Given the description of an element on the screen output the (x, y) to click on. 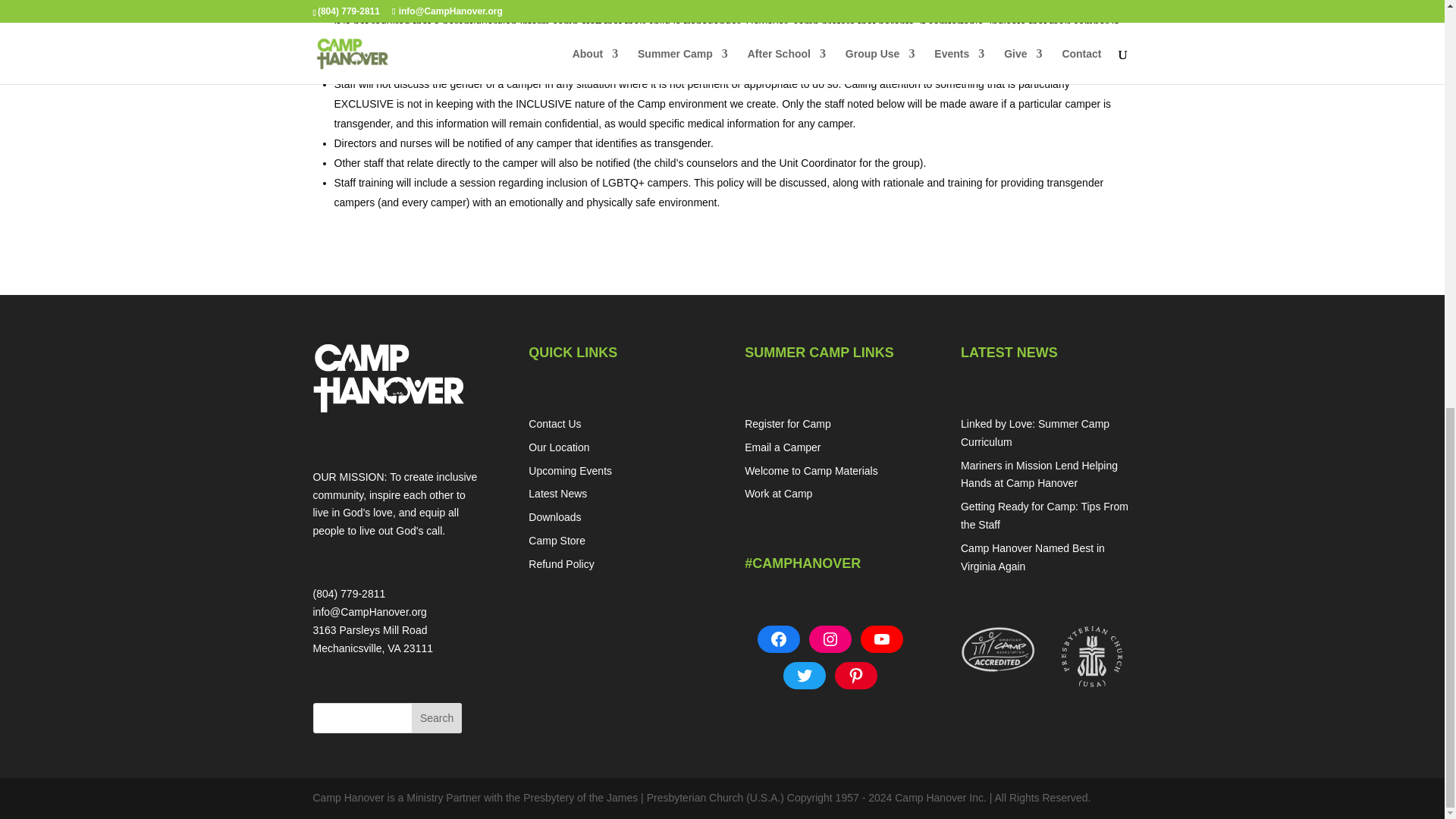
Search (436, 717)
